Given the description of an element on the screen output the (x, y) to click on. 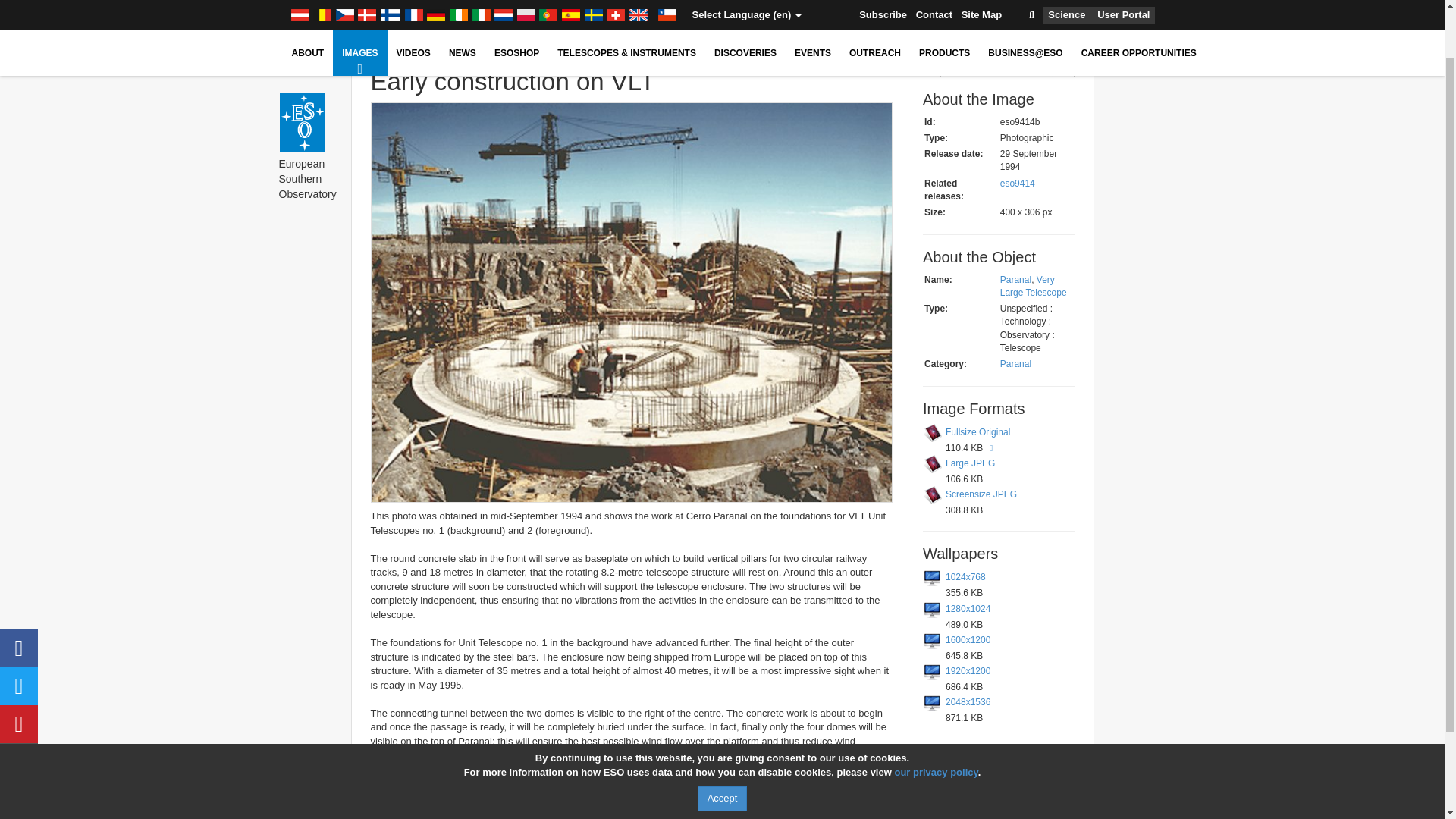
Accept (722, 741)
our privacy policy (934, 715)
ABOUT (307, 9)
